Given the description of an element on the screen output the (x, y) to click on. 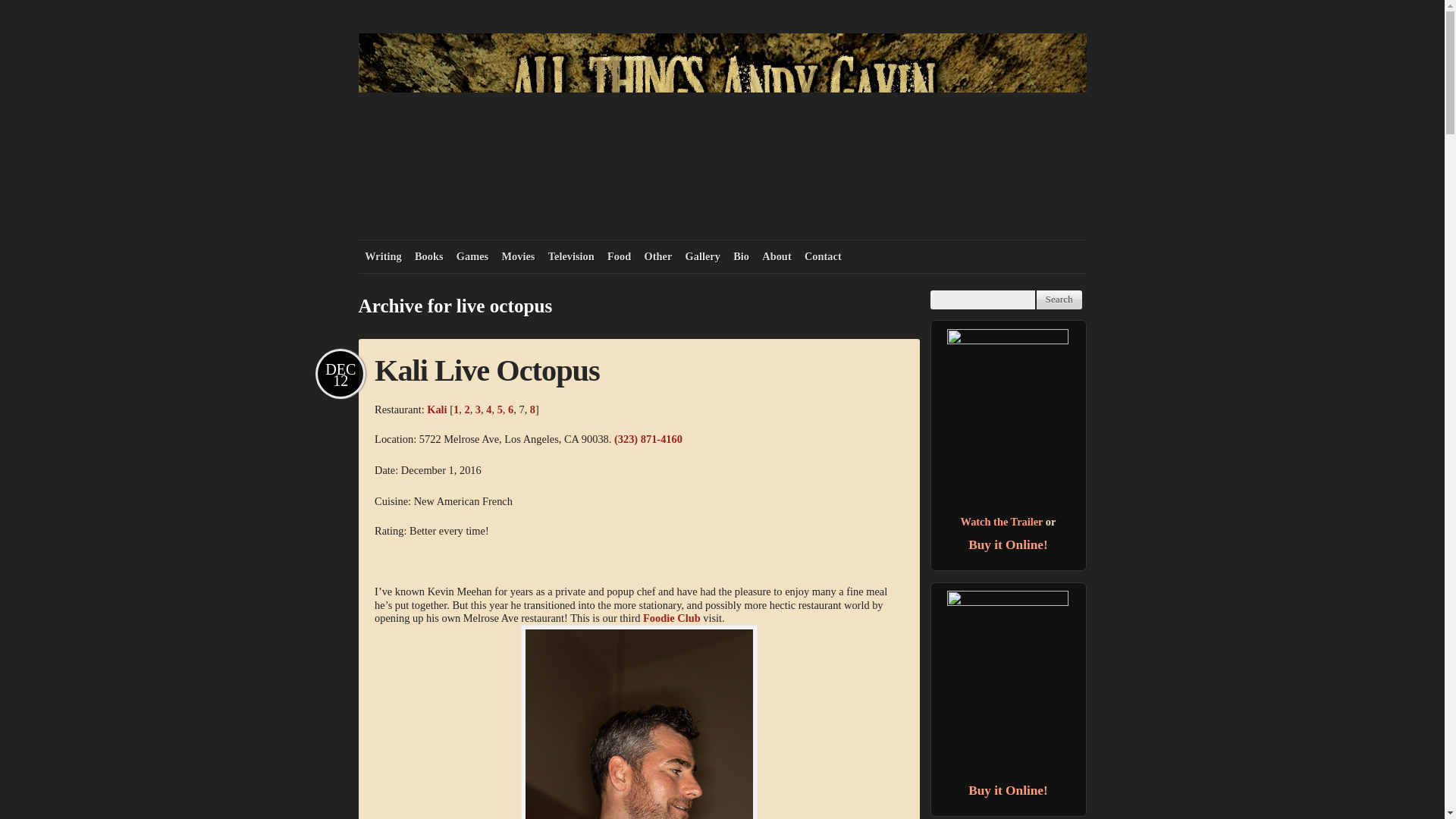
Call via Hangouts (648, 439)
Books (428, 256)
Writing (382, 256)
Search (1058, 299)
